Given the description of an element on the screen output the (x, y) to click on. 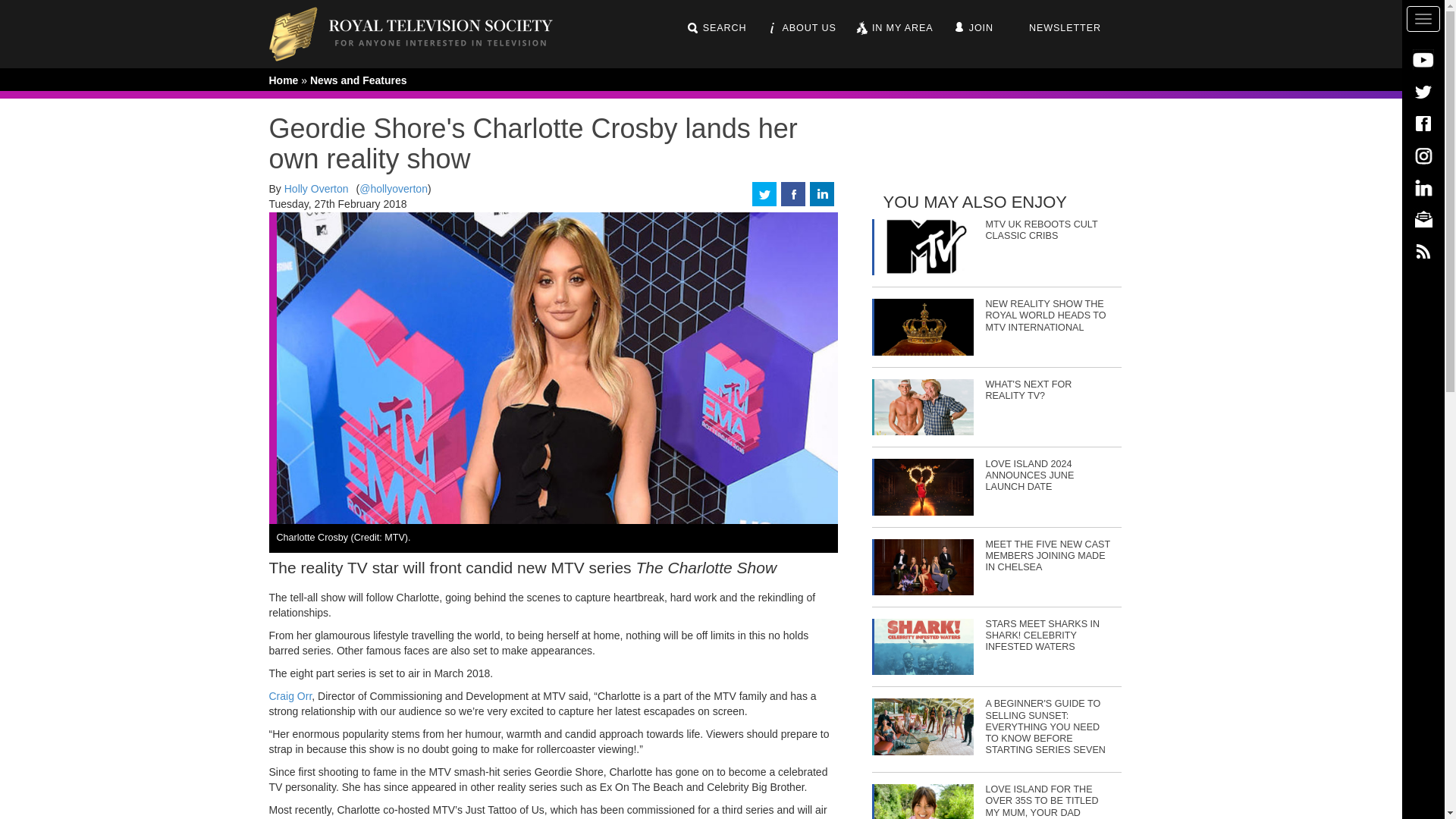
SEARCH (715, 28)
ABOUT US (800, 28)
Share on LinkedIn (821, 192)
IN MY AREA (894, 28)
LinkedIn (1423, 186)
Instagram (1423, 154)
Tweet this (764, 192)
NEWSLETTER (1055, 28)
Contact Us (1423, 218)
Home (421, 33)
Credit: ITV (923, 646)
Twitter (1423, 91)
Credit: ITV (923, 801)
RSS (1423, 250)
